Given the description of an element on the screen output the (x, y) to click on. 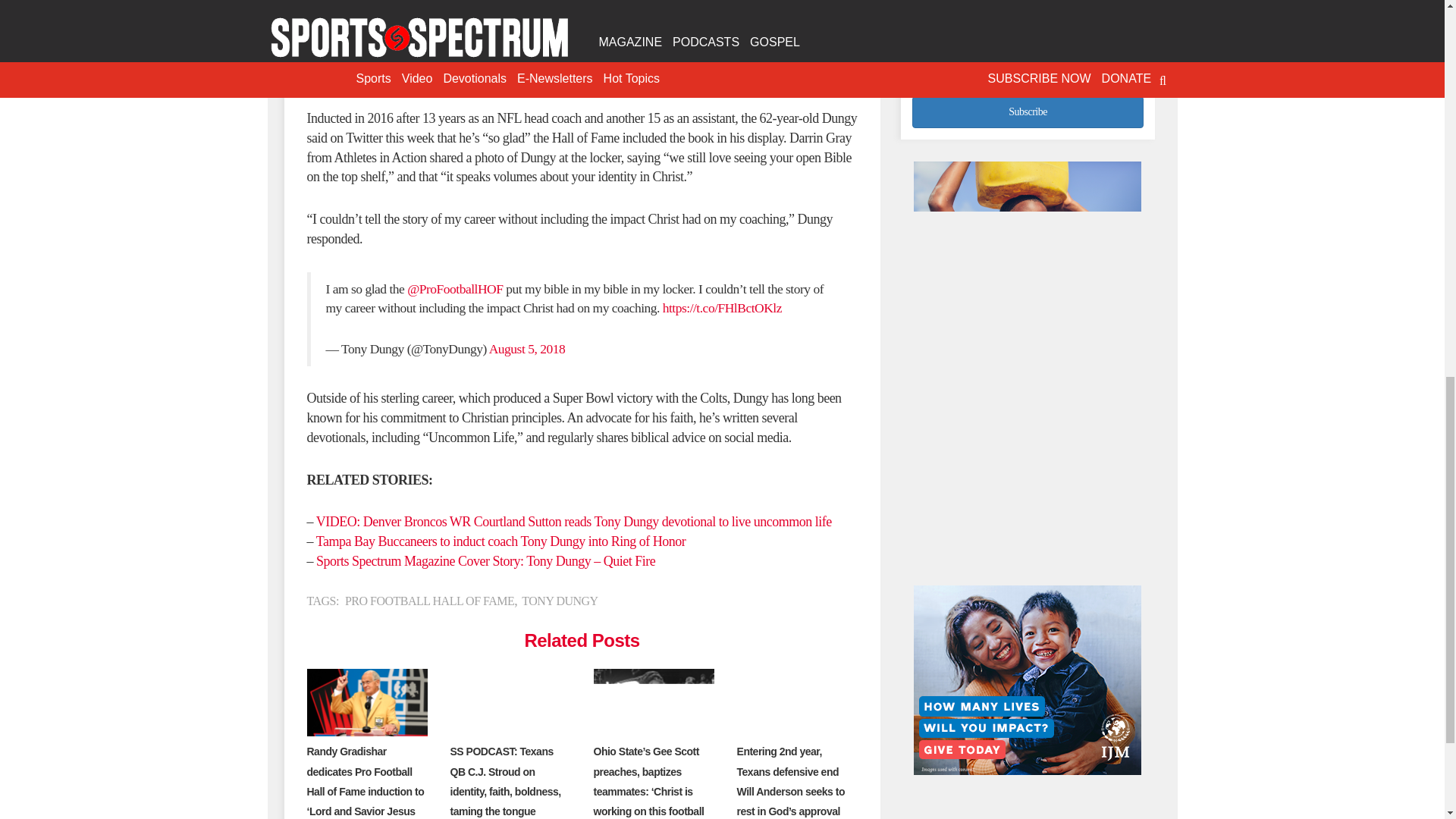
PRO FOOTBALL HALL OF FAME (429, 600)
International Phone Number (1027, 58)
August 5, 2018 (526, 348)
TONY DUNGY (558, 600)
